Given the description of an element on the screen output the (x, y) to click on. 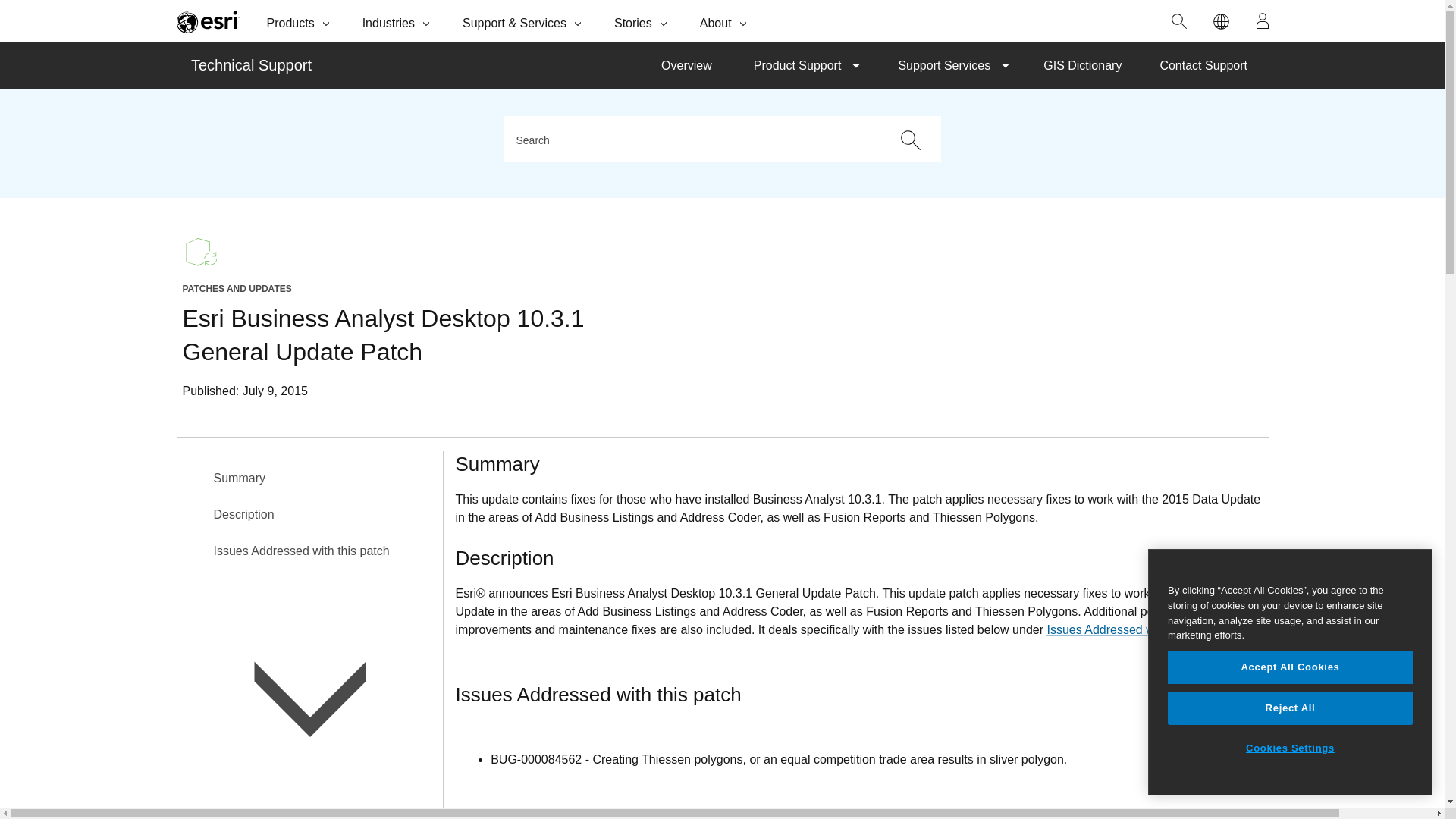
Esri home page (208, 21)
Search (1178, 20)
Sign In (1262, 20)
Switch Language (1220, 20)
Industries (396, 20)
Products (299, 20)
Esri home page (208, 21)
Esri home page (208, 21)
